Given the description of an element on the screen output the (x, y) to click on. 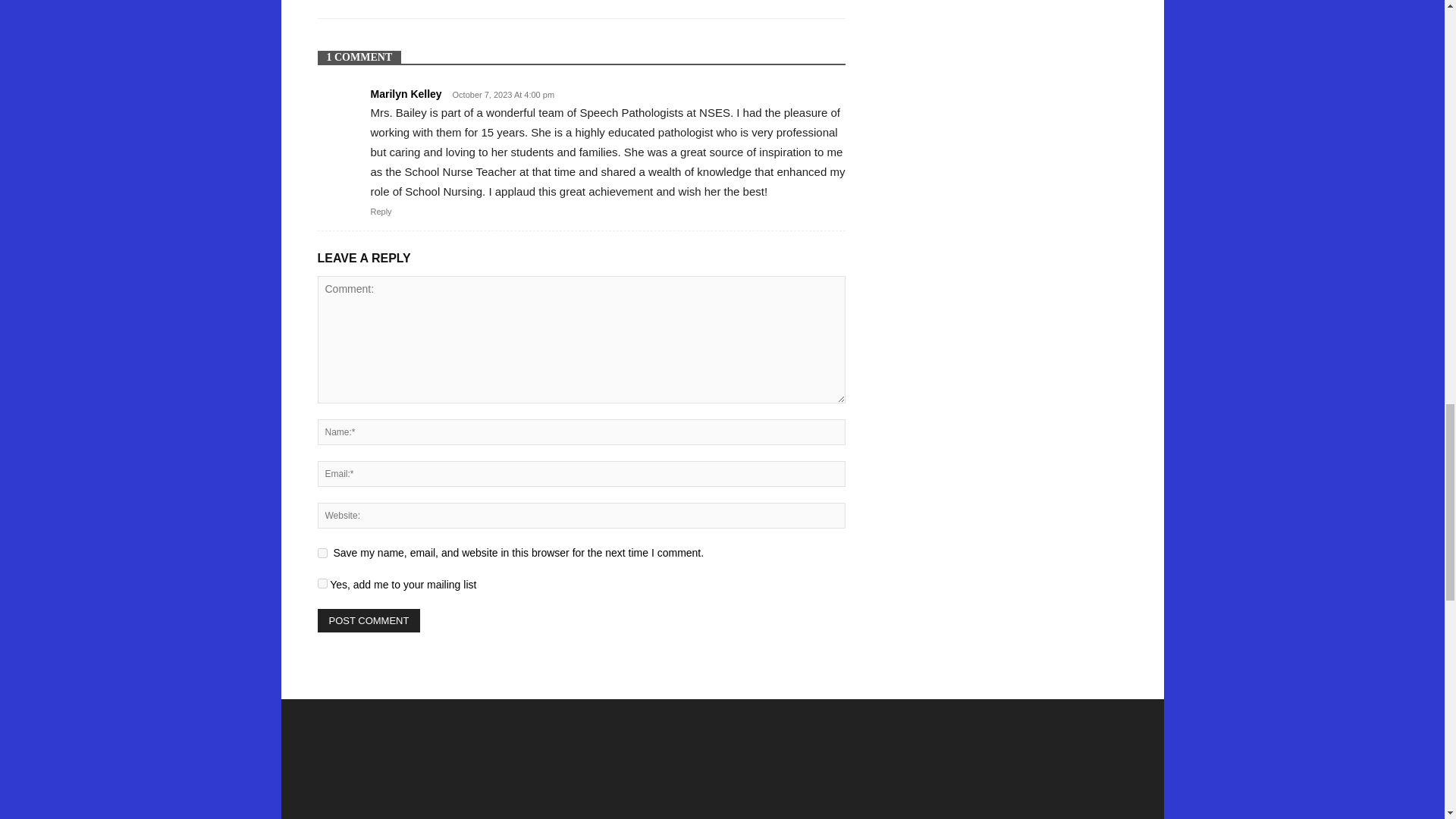
1 (321, 583)
yes (321, 552)
Post Comment (368, 620)
